Given the description of an element on the screen output the (x, y) to click on. 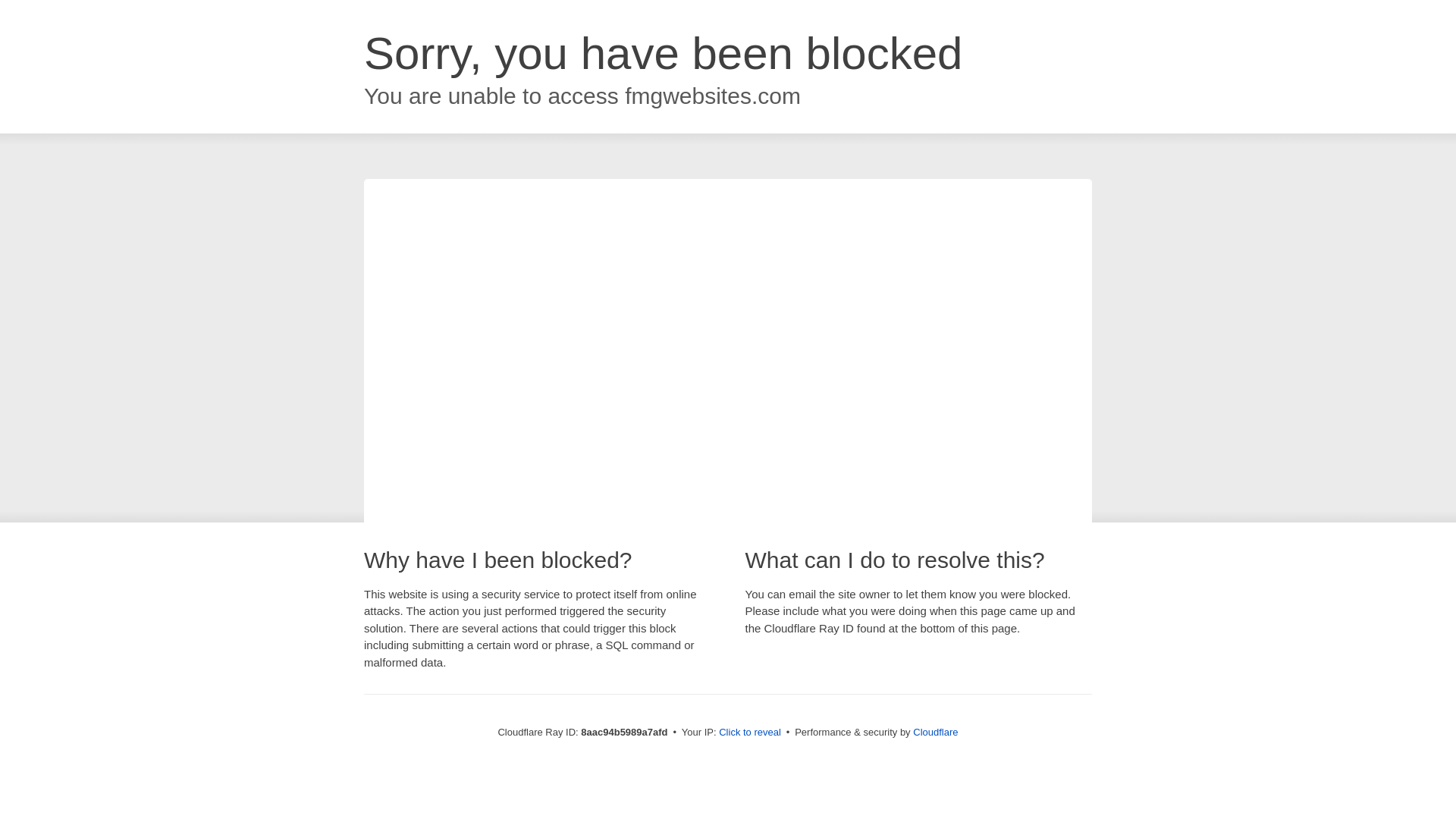
Cloudflare (935, 731)
Click to reveal (749, 732)
